Given the description of an element on the screen output the (x, y) to click on. 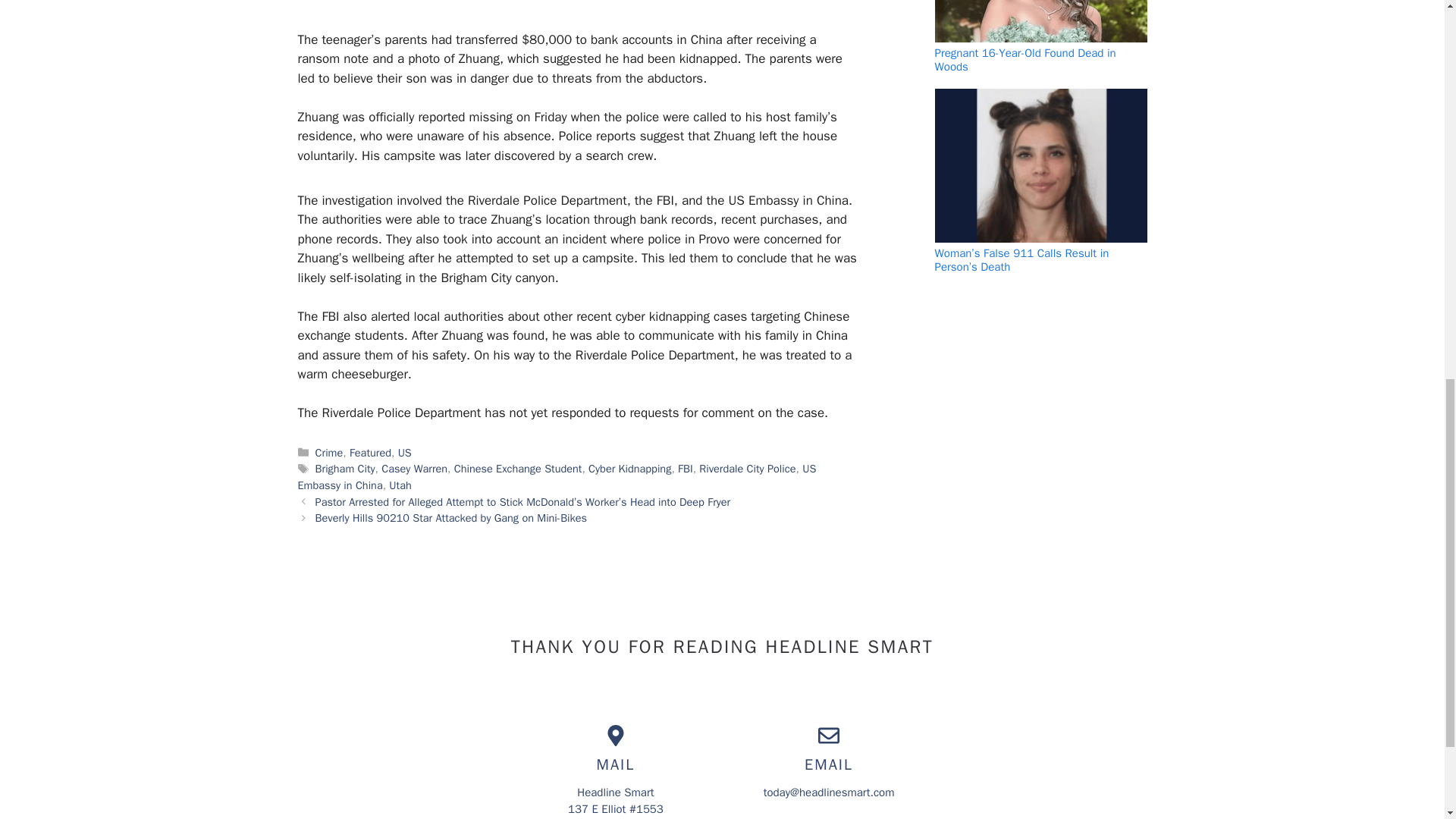
Pregnant 16-Year-Old Found Dead in Woods (1024, 59)
Featured (370, 452)
Casey Warren (413, 468)
Advertisement (570, 12)
Brigham City (345, 468)
Riverdale City Police (746, 468)
Crime (329, 452)
FBI (685, 468)
Chinese Exchange Student (518, 468)
US (404, 452)
Beverly Hills 90210 Star Attacked by Gang on Mini-Bikes (450, 517)
Cyber Kidnapping (629, 468)
Utah (399, 485)
US Embassy in China (556, 476)
